Given the description of an element on the screen output the (x, y) to click on. 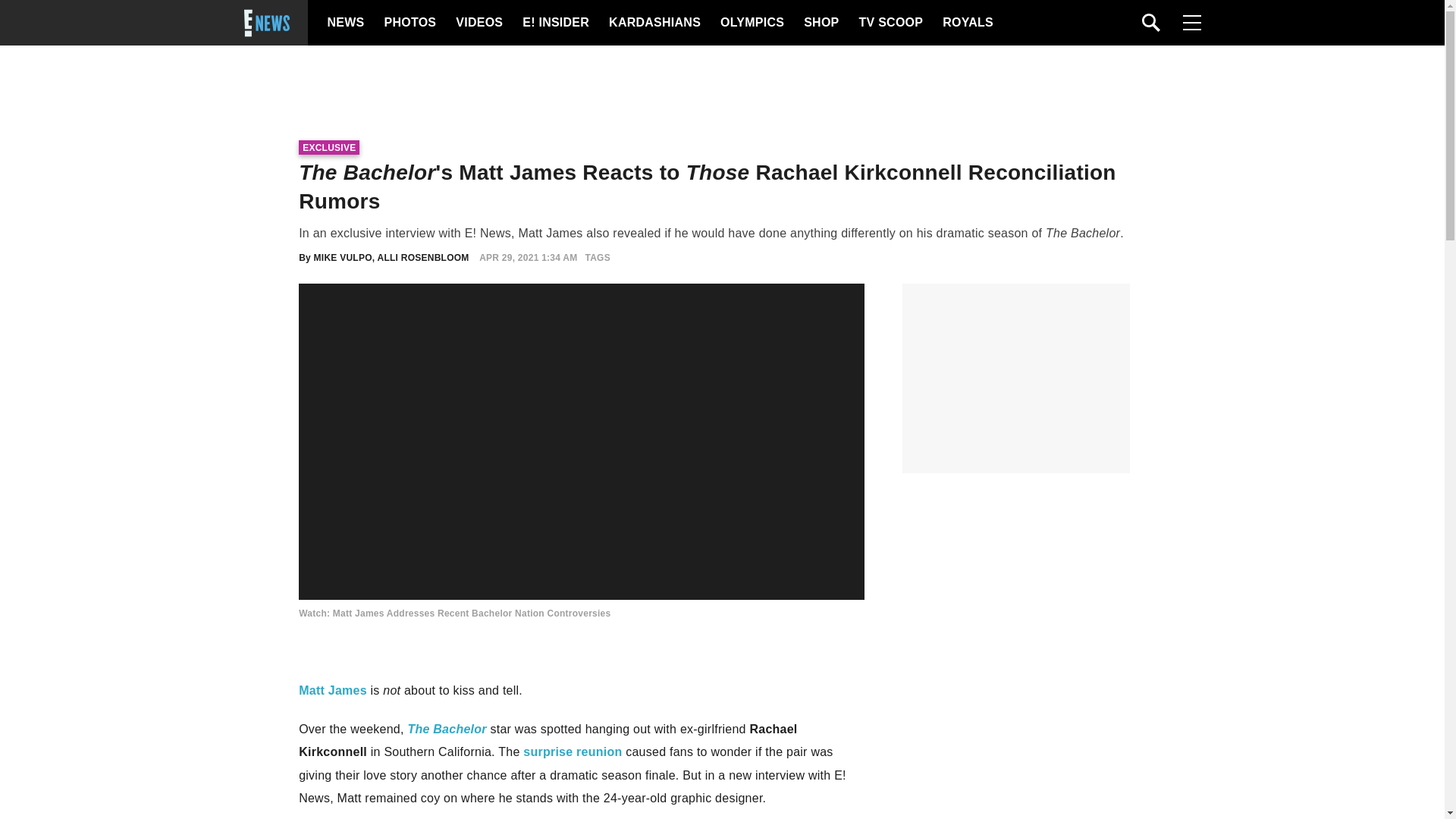
The Bachelor (446, 728)
OLYMPICS (751, 22)
E! INSIDER (555, 22)
VIDEOS (478, 22)
Matt James (332, 689)
SHOP (820, 22)
KARDASHIANS (653, 22)
ROYALS (966, 22)
NEWS (345, 22)
TV SCOOP (890, 22)
